Given the description of an element on the screen output the (x, y) to click on. 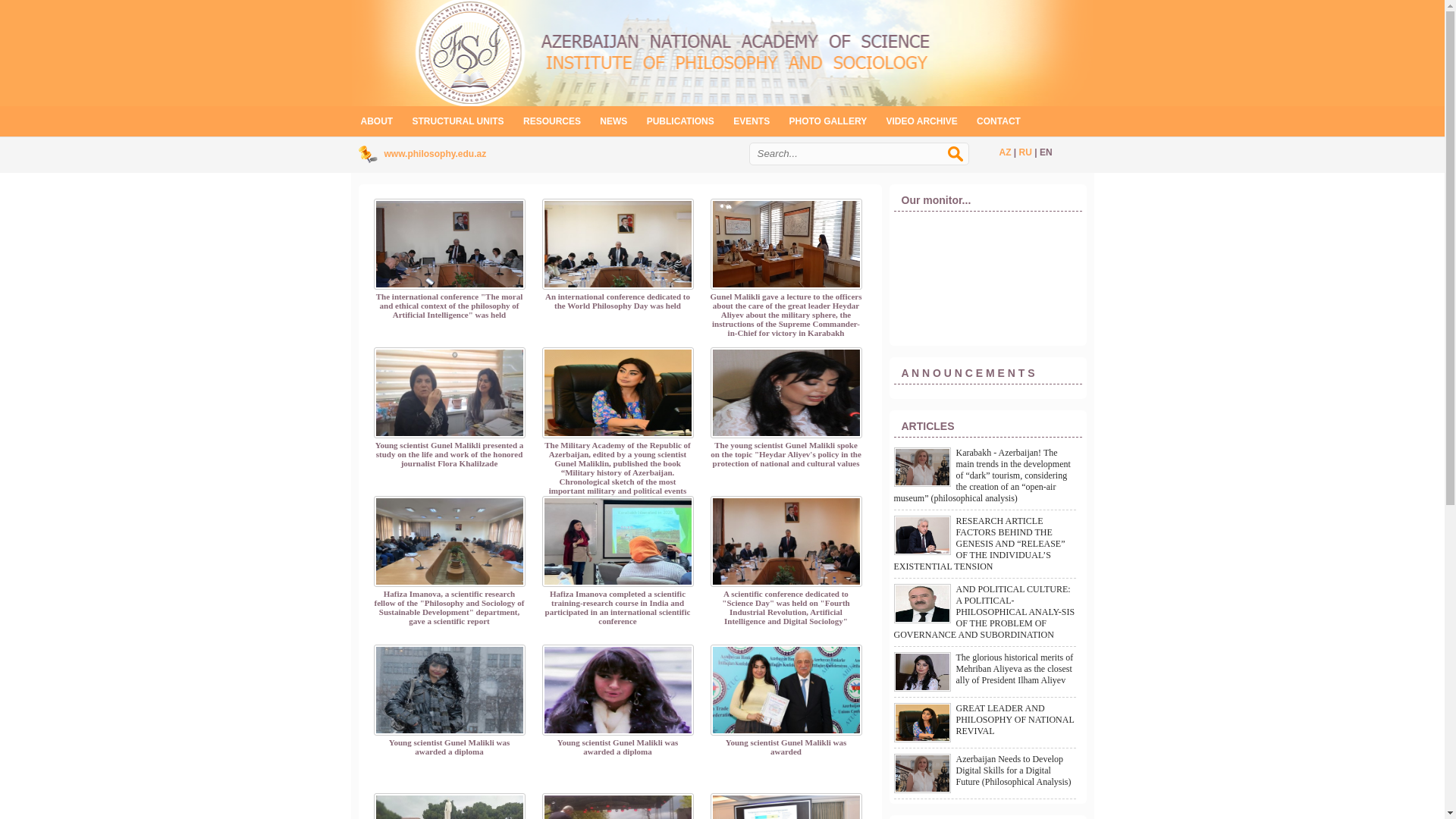
Young scientist Gunel Malikli was awarded a diploma Element type: text (448, 700)
Young scientist Gunel Malikli was awarded a diploma Element type: text (617, 700)
AZ Element type: text (1005, 152)
RU Element type: text (1025, 152)
PUBLICATIONS Element type: text (680, 121)
NEWS Element type: text (613, 121)
EVENTS Element type: text (751, 121)
Search Element type: hover (962, 161)
STRUCTURAL UNITS Element type: text (458, 121)
VIDEO ARCHIVE Element type: text (921, 121)
CONTACT Element type: text (998, 121)
GREAT LEADER AND PHILOSOPHY OF NATIONAL REVIVAL Element type: text (1014, 719)
ABOUT Element type: text (376, 121)
www.philosophy.edu.az Element type: text (434, 153)
Young scientist Gunel Malikli was awarded Element type: text (785, 700)
RESOURCES Element type: text (551, 121)
PHOTO GALLERY Element type: text (827, 121)
